Given the description of an element on the screen output the (x, y) to click on. 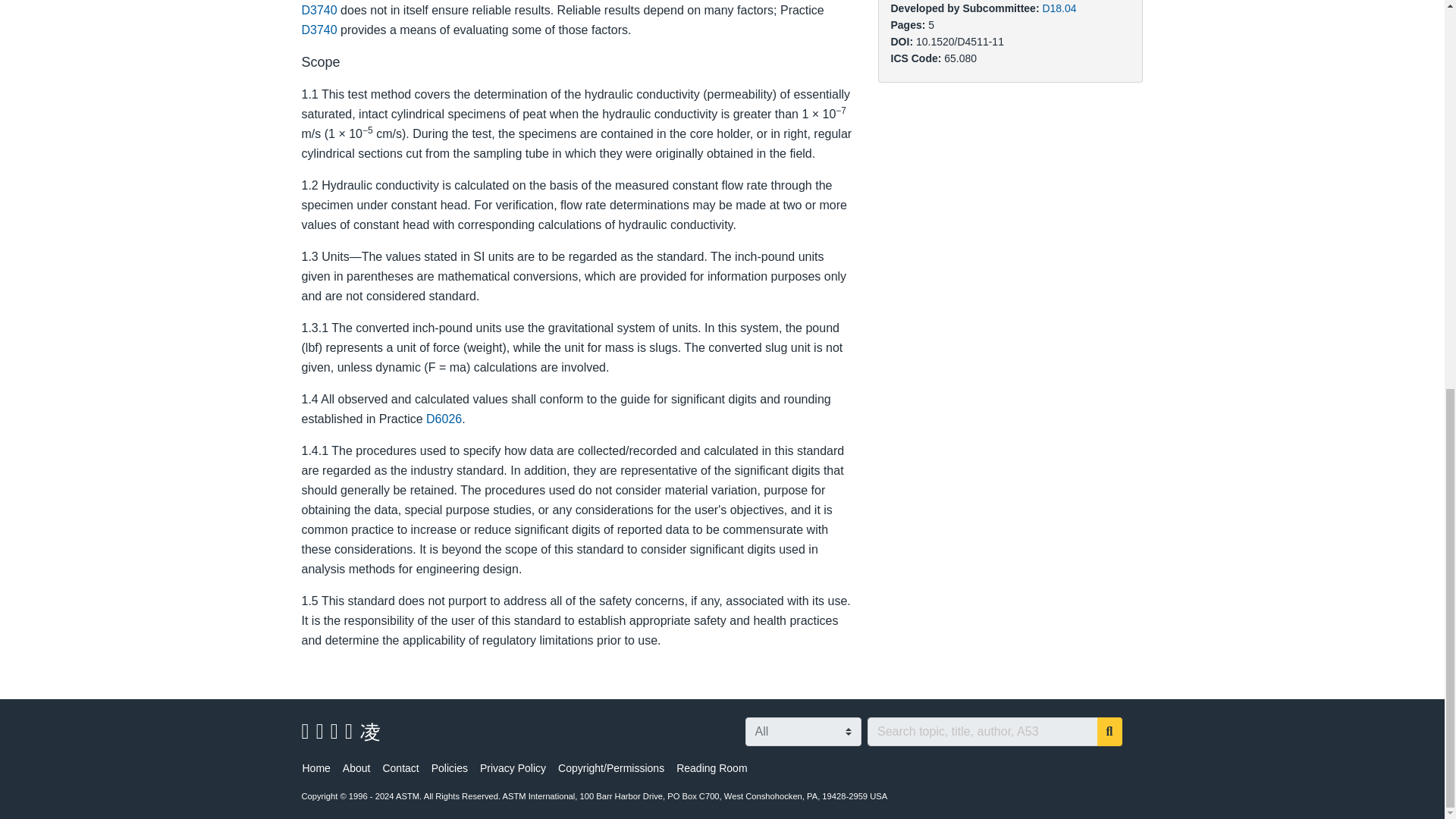
Search (1109, 731)
